Given the description of an element on the screen output the (x, y) to click on. 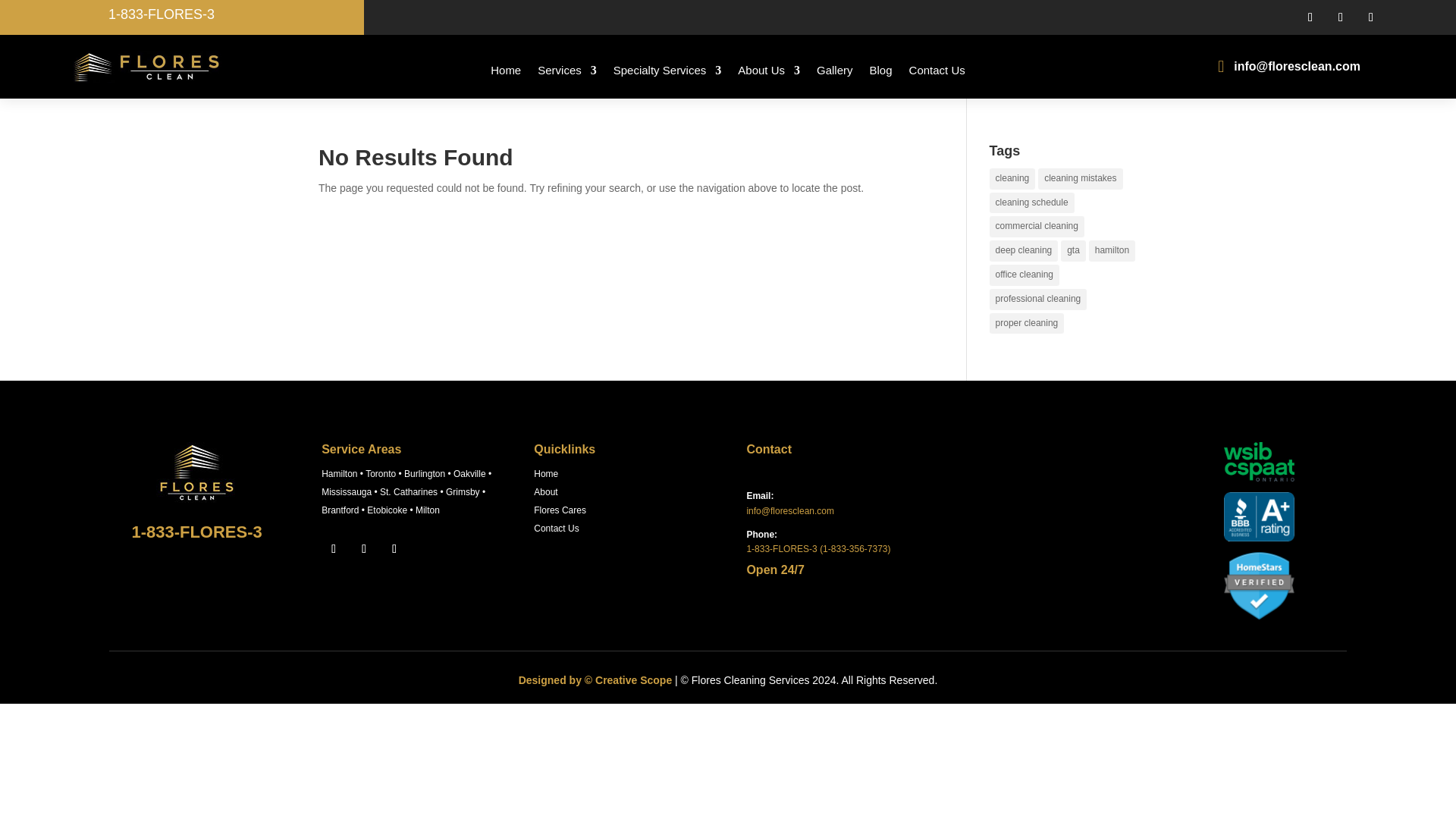
Follow on Facebook (333, 549)
Follow on Instagram (363, 549)
Contact Us (936, 70)
Follow on Youtube (393, 549)
logo (148, 66)
About Us (768, 70)
Follow on Youtube (1370, 16)
Services (566, 70)
Follow on Instagram (1339, 16)
bbb2 (1259, 516)
